Given the description of an element on the screen output the (x, y) to click on. 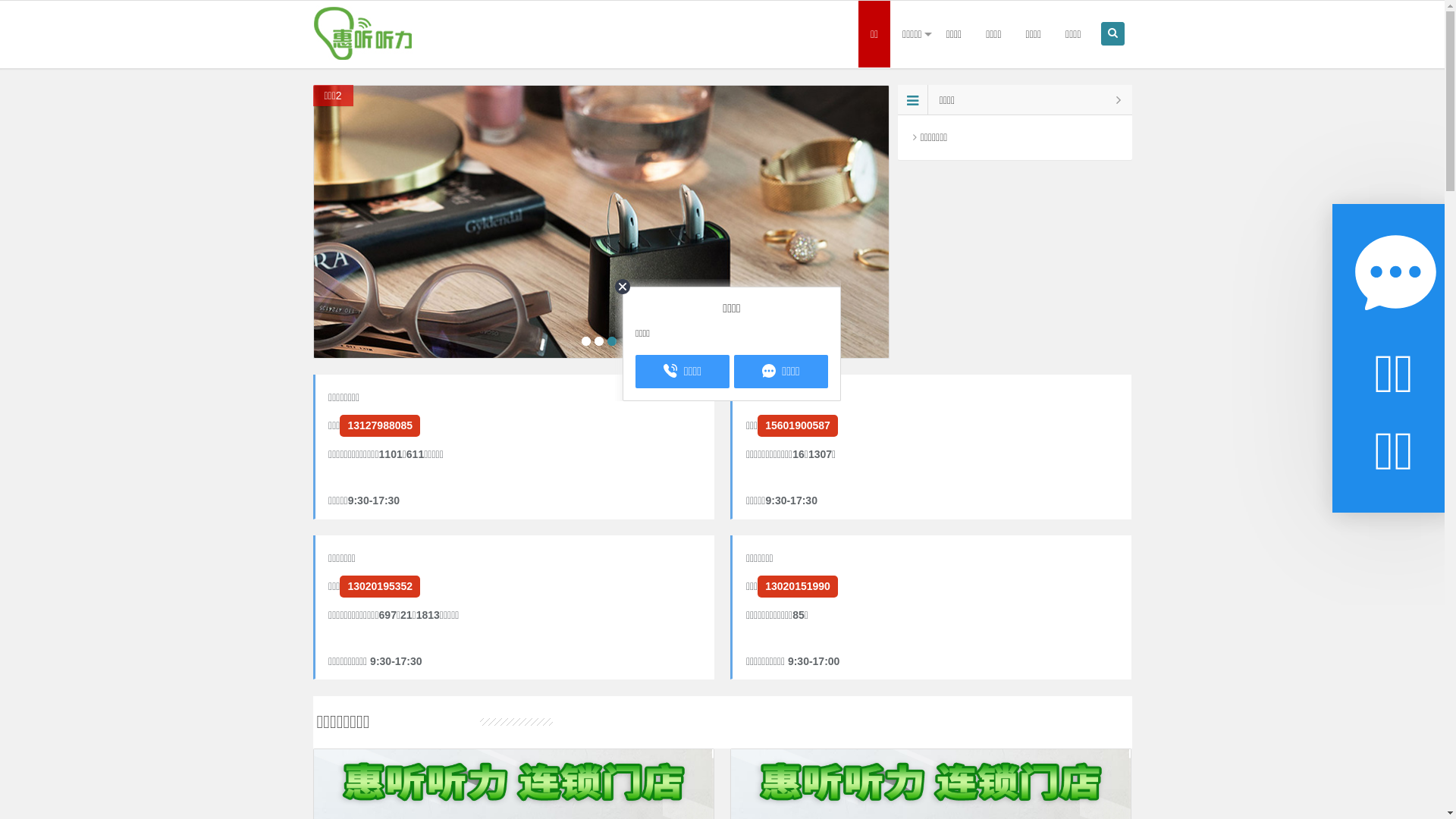
15601900587 Element type: text (797, 425)
3 Element type: text (611, 340)
1 Element type: text (585, 340)
13020195352 Element type: text (379, 586)
2 Element type: text (598, 340)
13020151990 Element type: text (797, 586)
13127988085 Element type: text (379, 425)
